Given the description of an element on the screen output the (x, y) to click on. 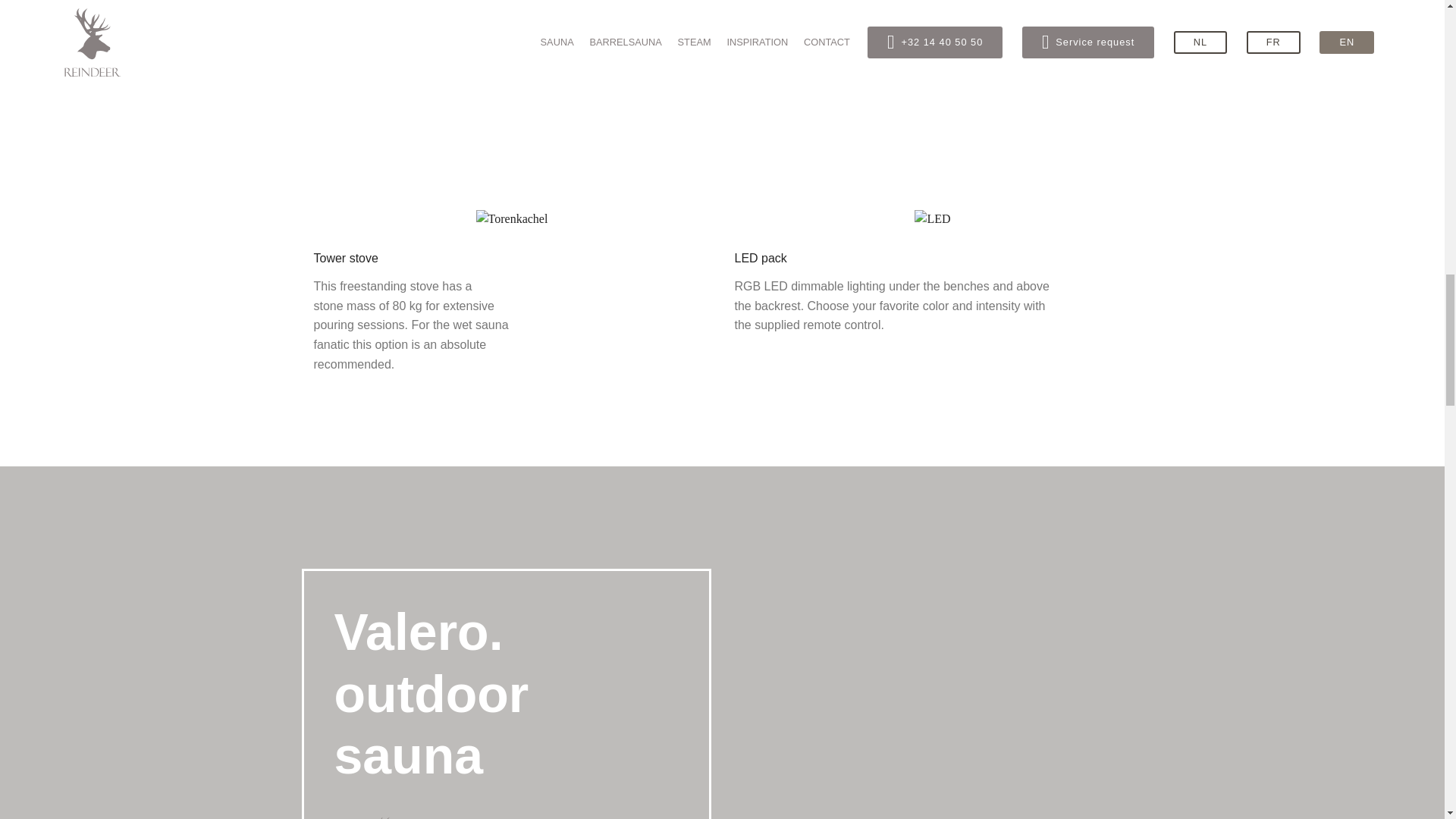
Thermowood (512, 218)
RodeCeder (932, 218)
mobirise (392, 815)
